Given the description of an element on the screen output the (x, y) to click on. 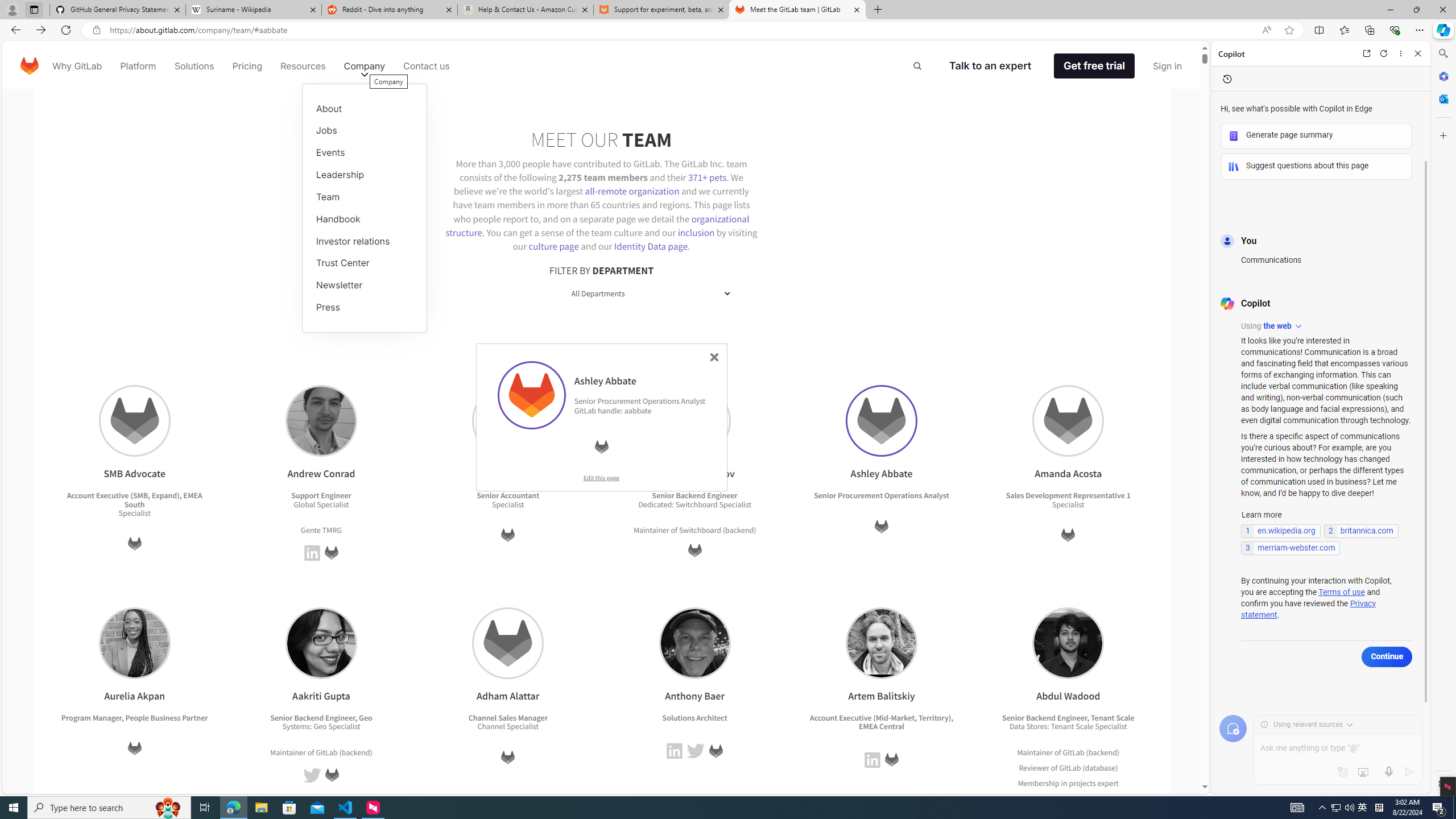
culture page (553, 246)
Ayesha Zubair (508, 420)
SMB Advocate (134, 420)
Switchboard (700, 529)
Solutions (193, 65)
Adham Alattar (508, 642)
Help & Contact Us - Amazon Customer Service - Sleeping (525, 9)
Andrew Conrad (320, 420)
Artem Balitskiy (880, 642)
Membership in groups (1056, 797)
Contact us (426, 65)
